Given the description of an element on the screen output the (x, y) to click on. 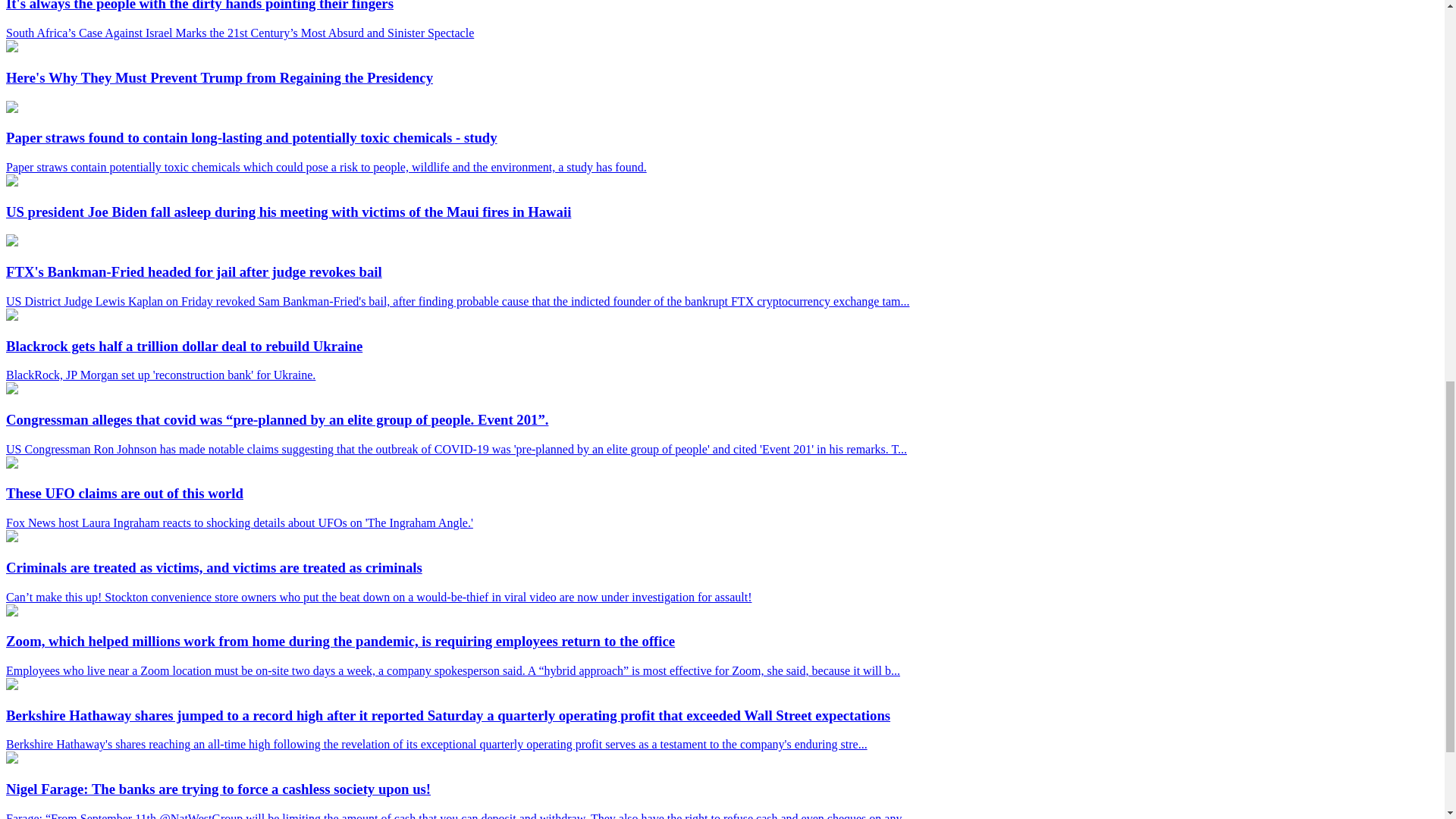
These UFO claims are out of this world (11, 463)
FTX's Bankman-Fried headed for jail after judge revokes bail (11, 241)
